Given the description of an element on the screen output the (x, y) to click on. 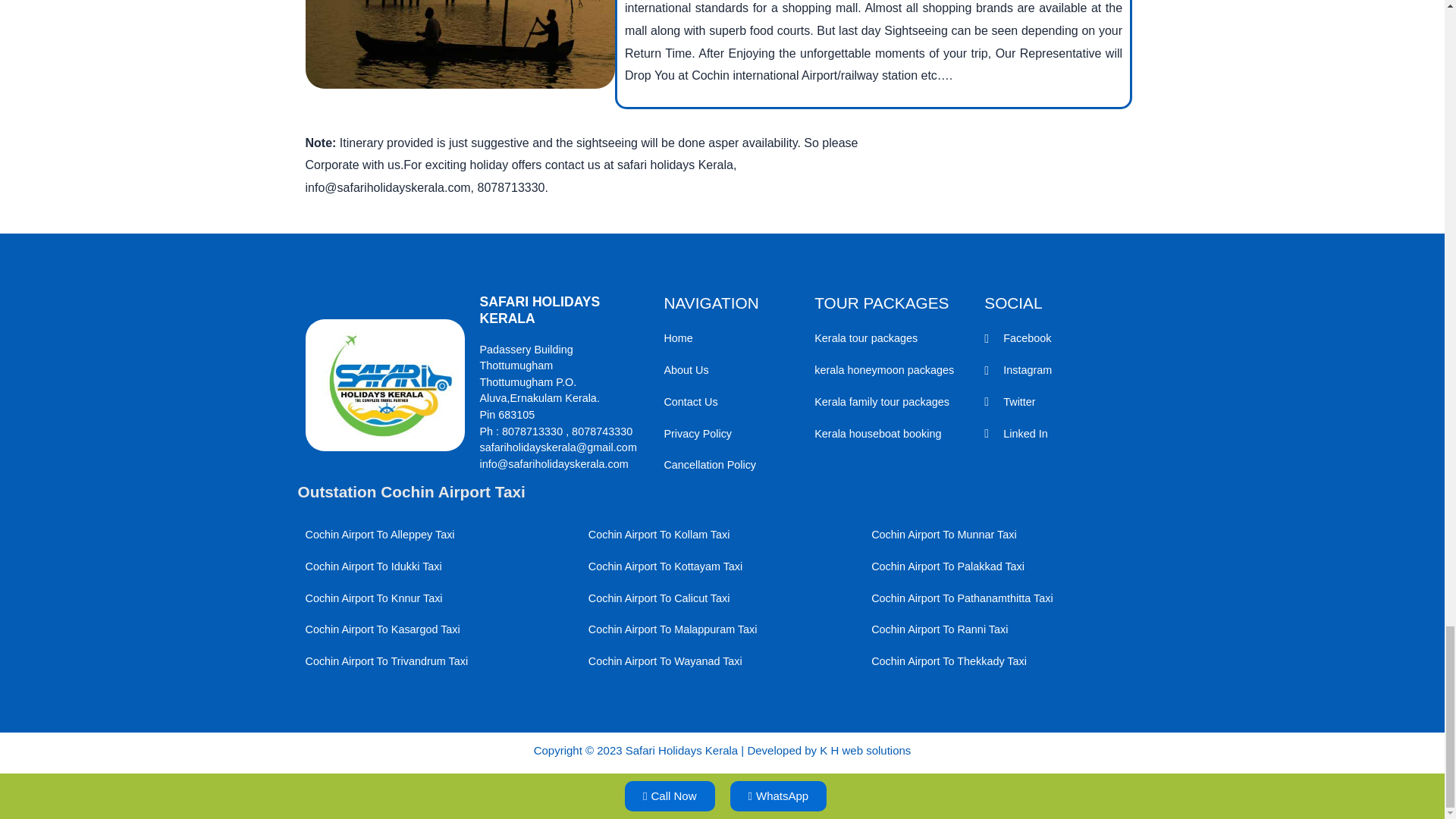
Cochin Airport To Kottayam Taxi (722, 566)
Home (731, 338)
Facebook (1061, 338)
Cochin Airport To Kollam Taxi (722, 534)
Privacy Policy (731, 434)
Cochin Airport To Trivandrum Taxi (438, 661)
Cochin Airport To Knnur Taxi (438, 598)
Cochin Airport To Kasargod Taxi (438, 629)
Twitter (1061, 402)
Cochin Airport To Calicut Taxi (722, 598)
